Given the description of an element on the screen output the (x, y) to click on. 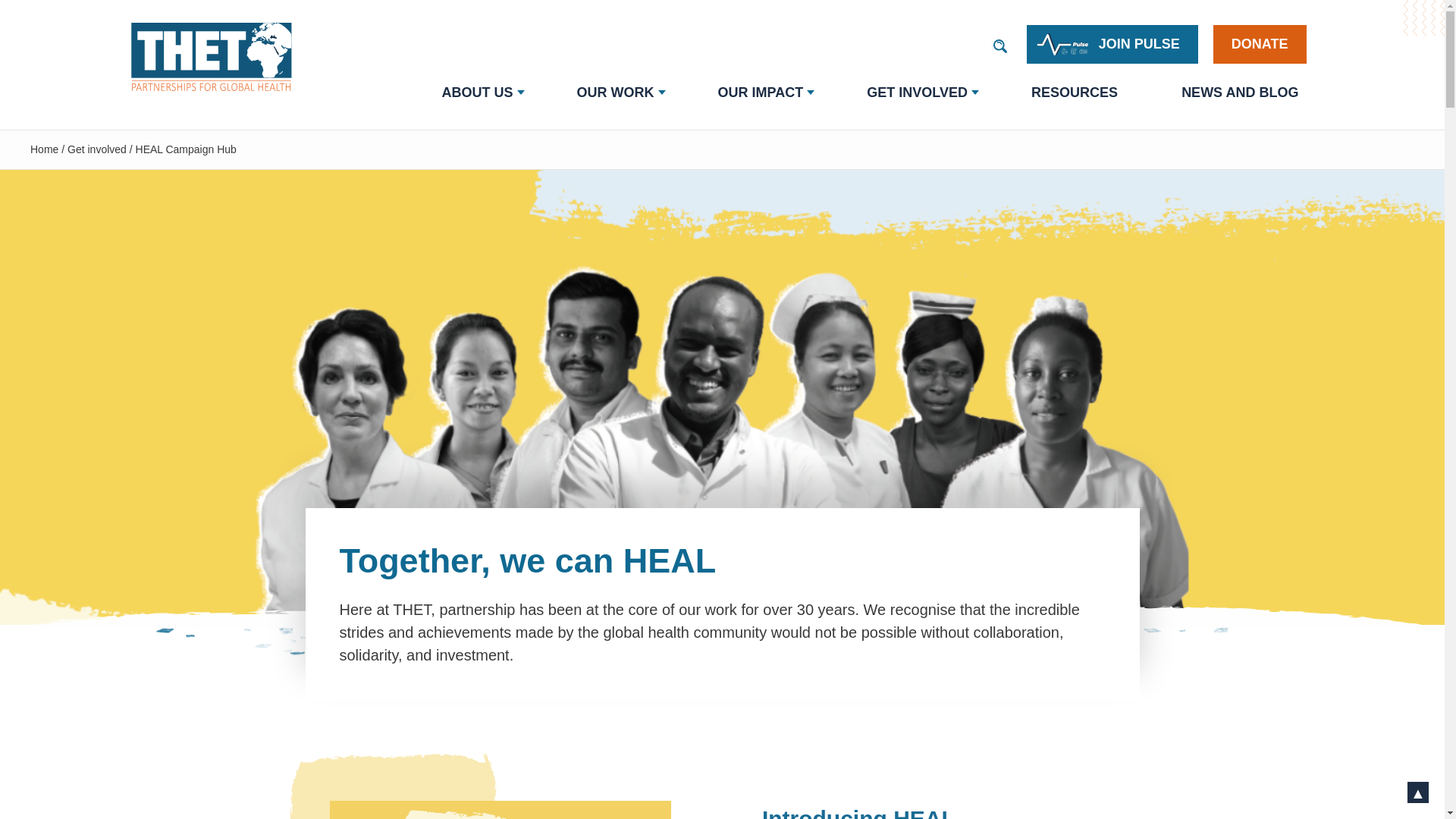
JOIN PULSE (1112, 44)
DONATE (1259, 44)
OUR WORK (615, 92)
ABOUT US (476, 92)
THET (216, 56)
